Given the description of an element on the screen output the (x, y) to click on. 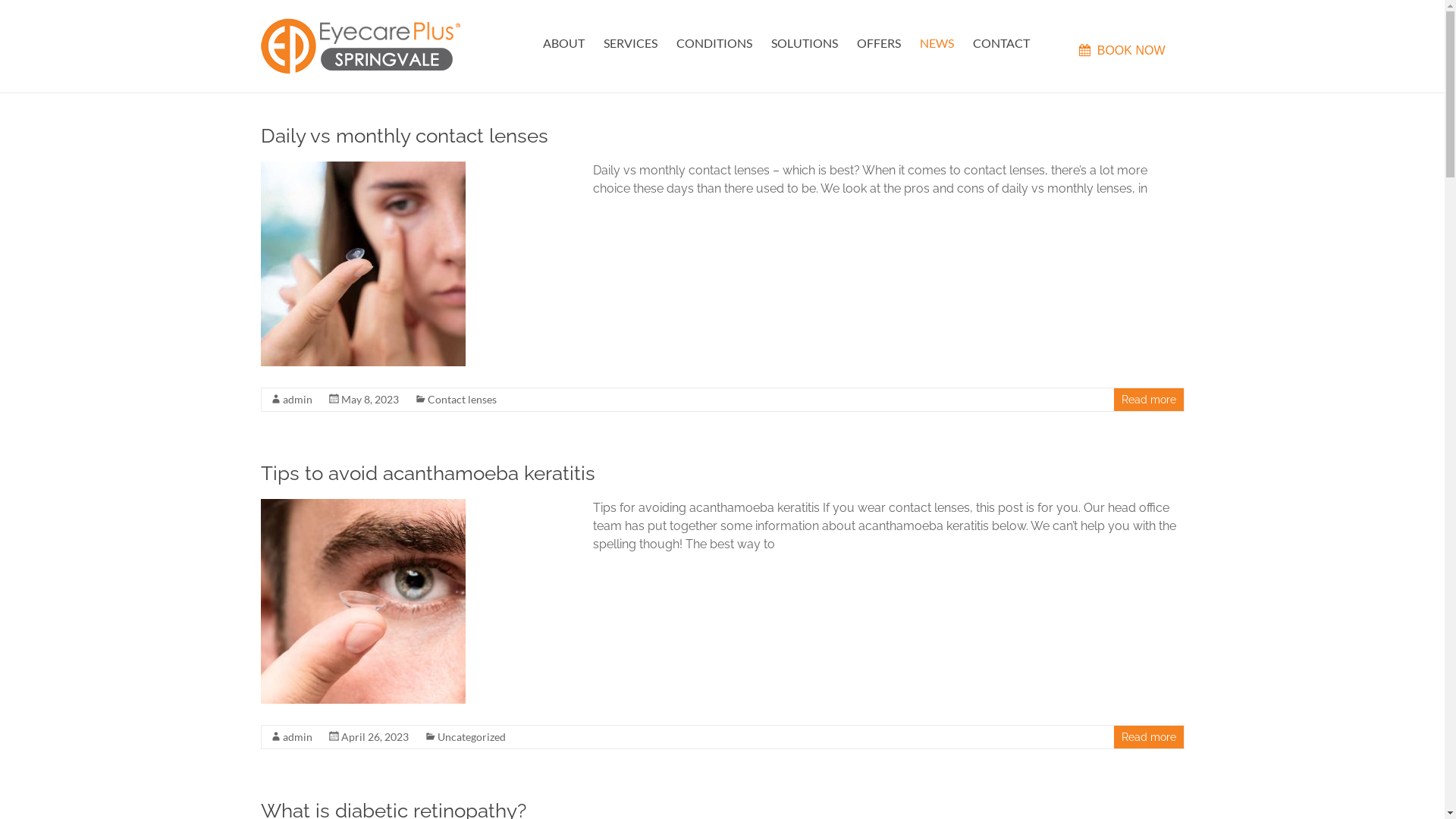
Daily vs monthly contact lenses Element type: hover (362, 168)
OFFERS Element type: text (878, 40)
SERVICES Element type: text (630, 40)
Uncategorized Element type: text (470, 736)
Read more Element type: text (1147, 399)
April 26, 2023 Element type: text (374, 736)
Contact lenses Element type: text (461, 398)
Tips to avoid acanthamoeba keratitis Element type: hover (362, 600)
Tips to avoid acanthamoeba keratitis Element type: hover (362, 505)
NEWS Element type: text (936, 40)
Daily vs monthly contact lenses Element type: text (404, 135)
Read more Element type: text (1147, 737)
ABOUT Element type: text (563, 40)
SOLUTIONS Element type: text (804, 40)
Tips to avoid acanthamoeba keratitis Element type: text (427, 472)
CONDITIONS Element type: text (714, 40)
admin Element type: text (296, 736)
CONTACT Element type: text (1000, 40)
Eyecare Plus Springvale Element type: text (326, 60)
May 8, 2023 Element type: text (369, 398)
Daily vs monthly contact lenses Element type: hover (362, 263)
admin Element type: text (296, 398)
